Given the description of an element on the screen output the (x, y) to click on. 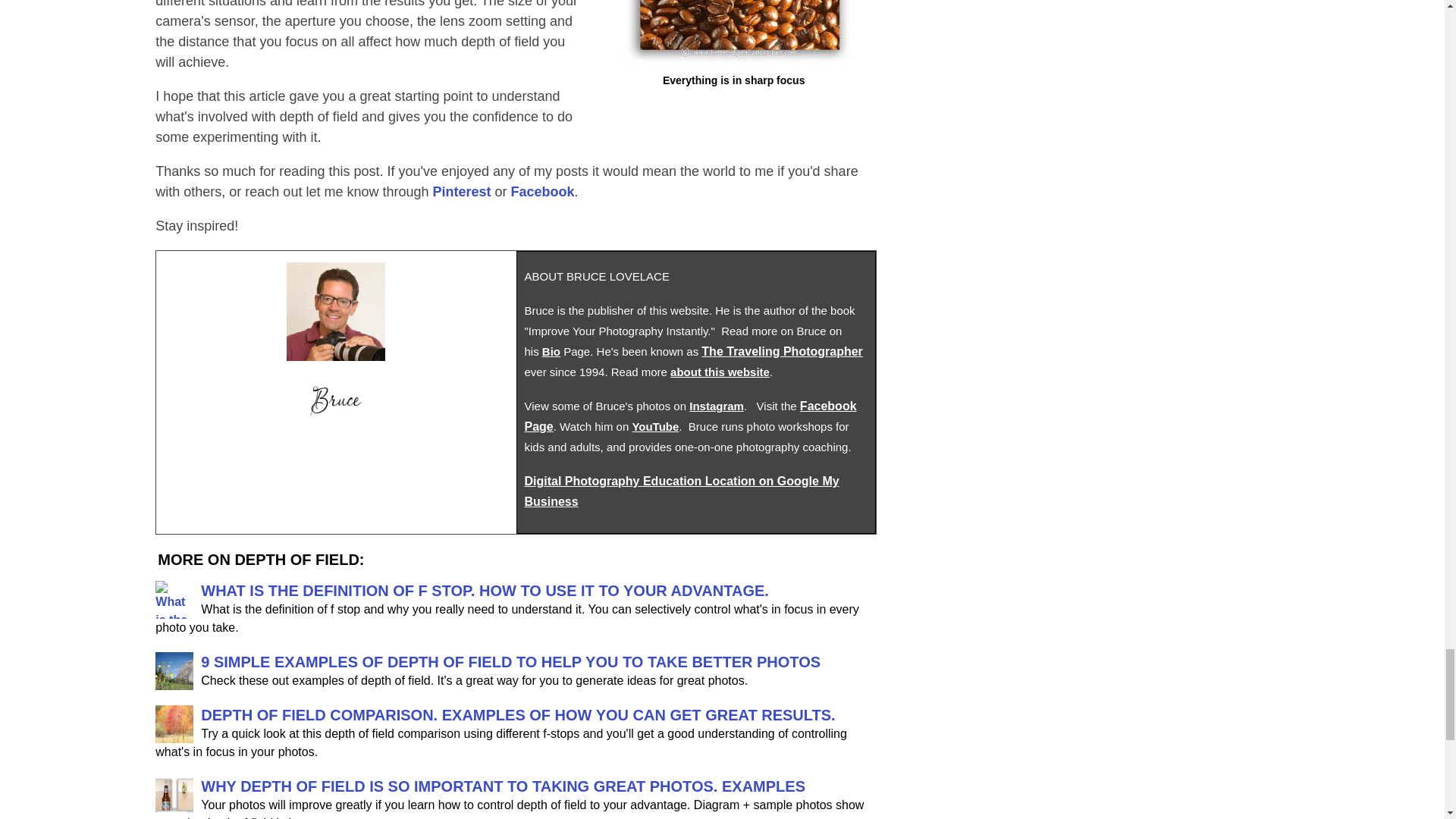
The Traveling Photographe (779, 350)
Bio (550, 350)
Facebook Page (690, 416)
about this website (719, 371)
YouTube (654, 426)
Instagram (716, 405)
Pinterest (461, 191)
Facebook (543, 191)
